Given the description of an element on the screen output the (x, y) to click on. 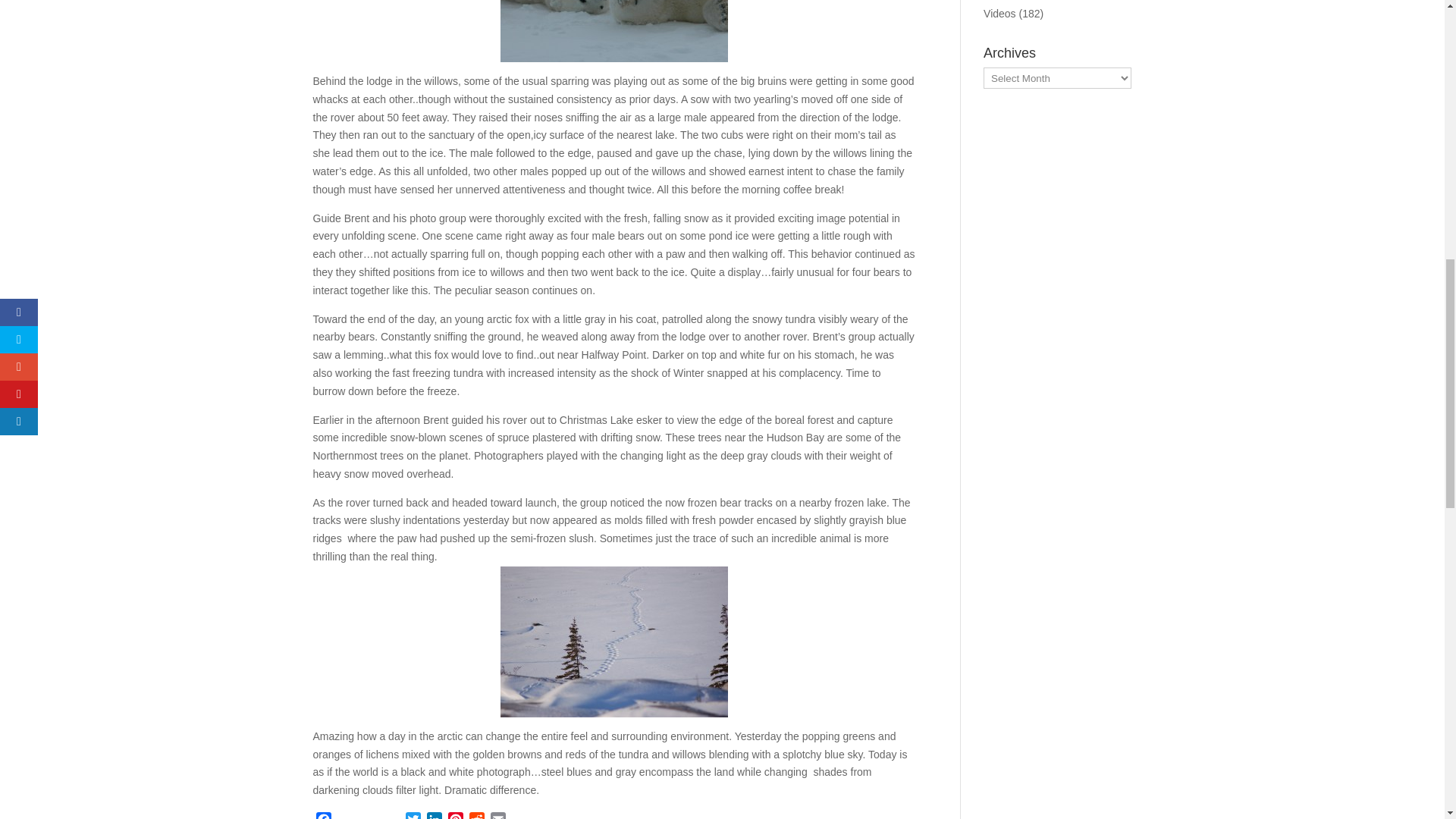
Email (497, 815)
Reddit (475, 815)
churchill 5 054 (614, 31)
LinkedIn (433, 815)
Twitter (412, 815)
Facebook (323, 815)
Pinterest (454, 815)
